Given the description of an element on the screen output the (x, y) to click on. 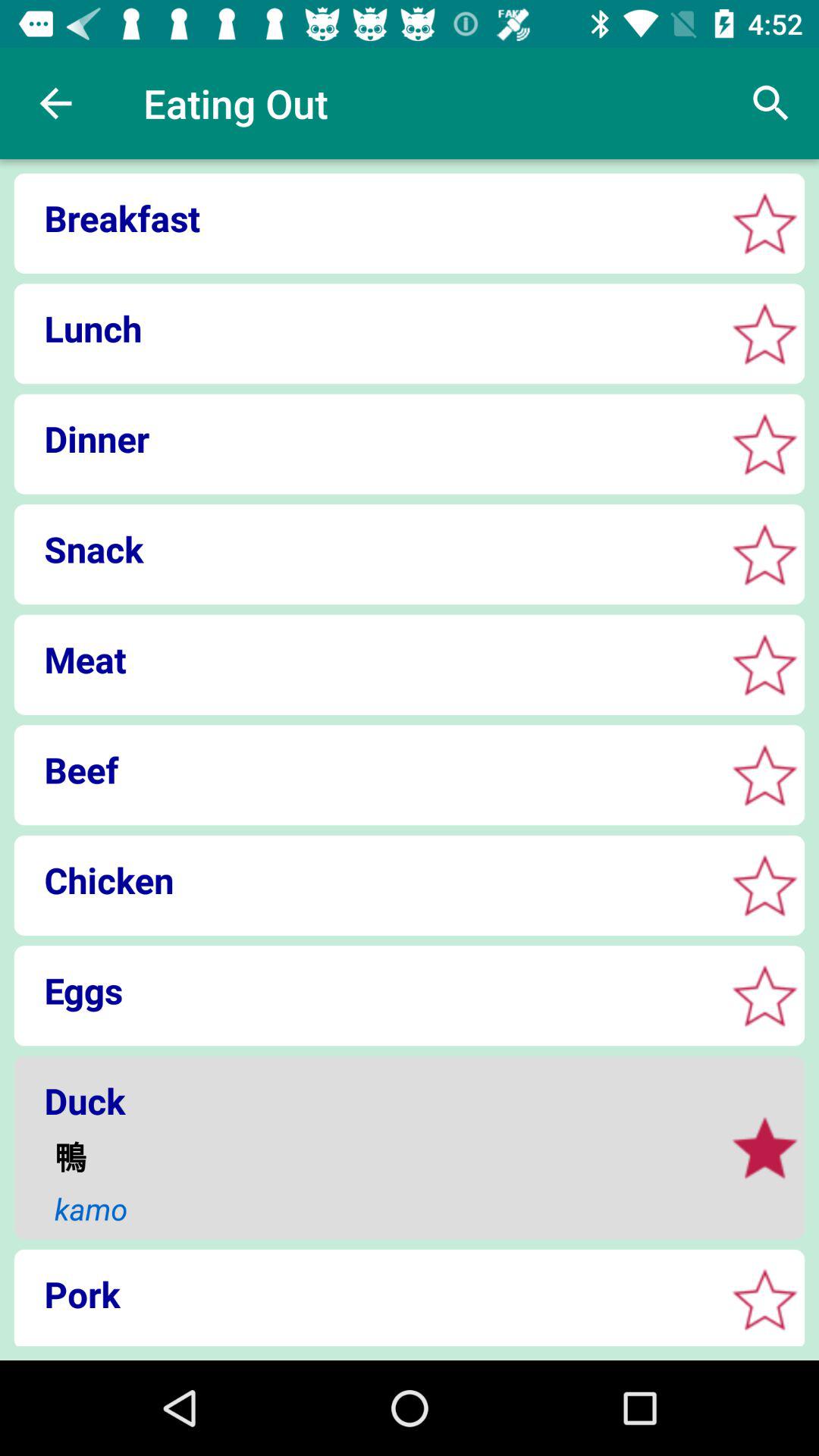
selective star box (764, 333)
